Given the description of an element on the screen output the (x, y) to click on. 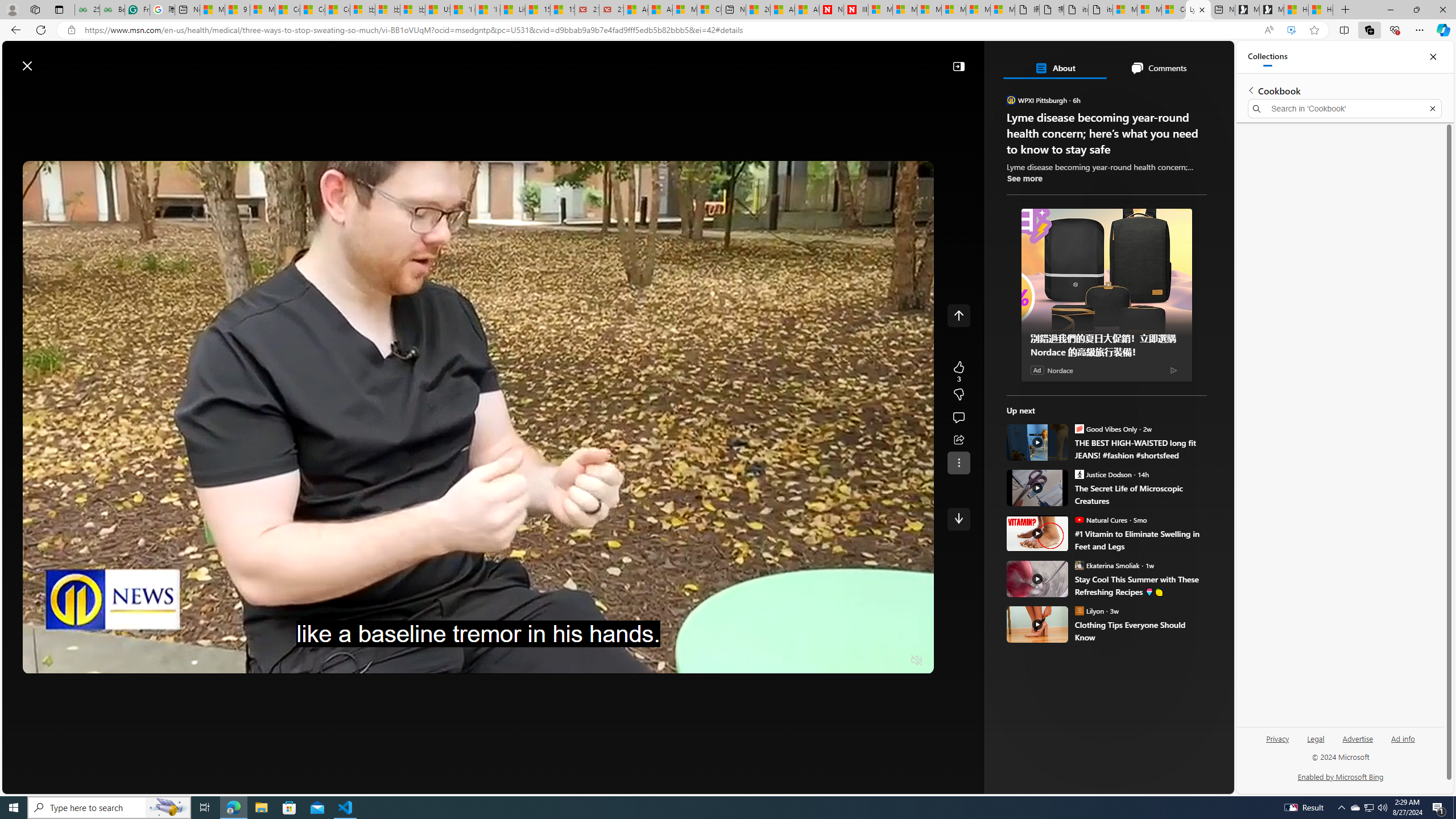
Justice Dodson (1079, 474)
Web search (415, 60)
Progress Bar (478, 646)
Class: at-item detail-page (958, 462)
How to Use a TV as a Computer Monitor (1320, 9)
Legal (1315, 742)
Newsweek - News, Analysis, Politics, Business, Technology (830, 9)
Enter your search term (619, 59)
